Given the description of an element on the screen output the (x, y) to click on. 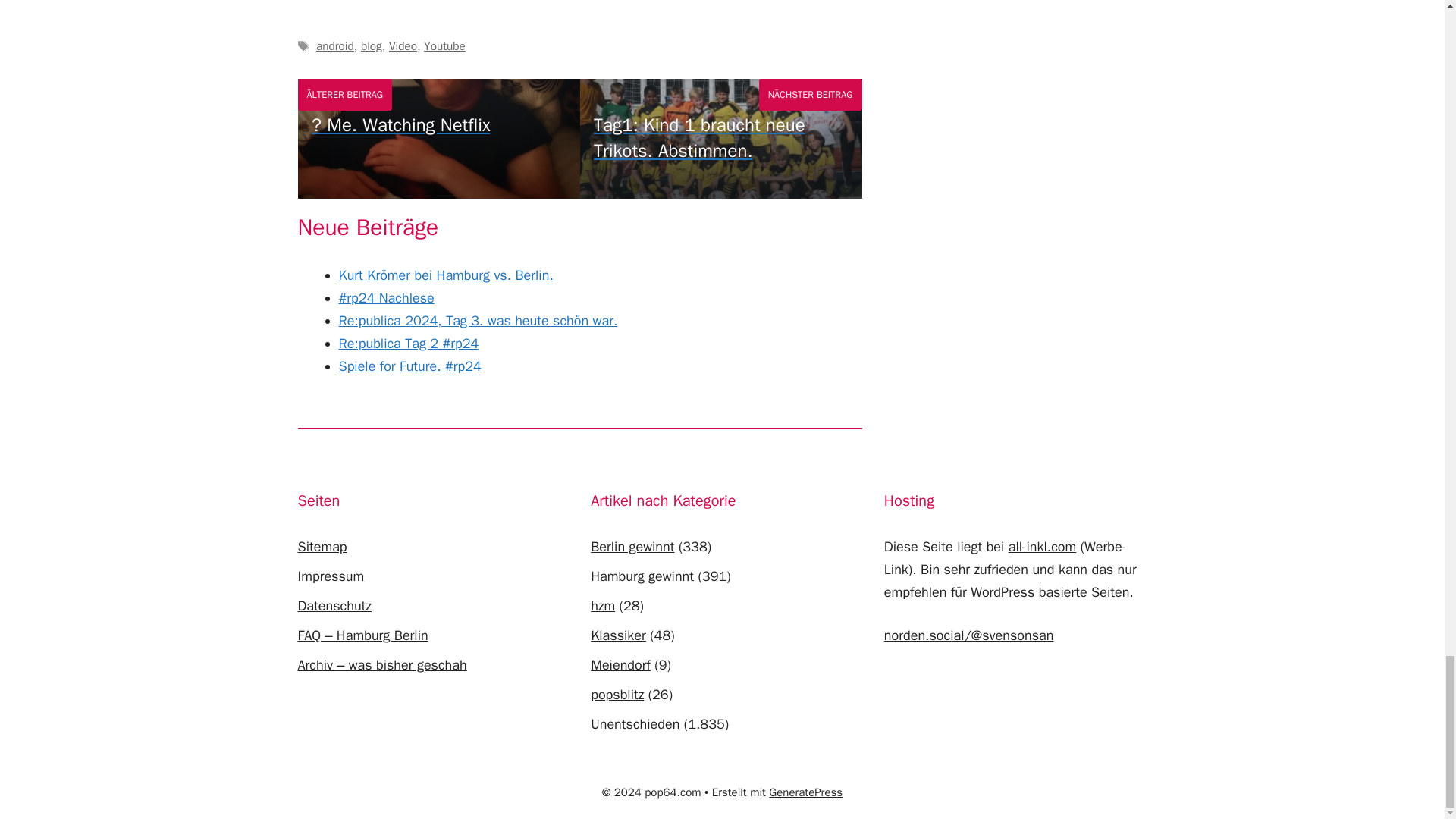
Youtube (444, 46)
android (334, 46)
Video (402, 46)
blog (371, 46)
